Given the description of an element on the screen output the (x, y) to click on. 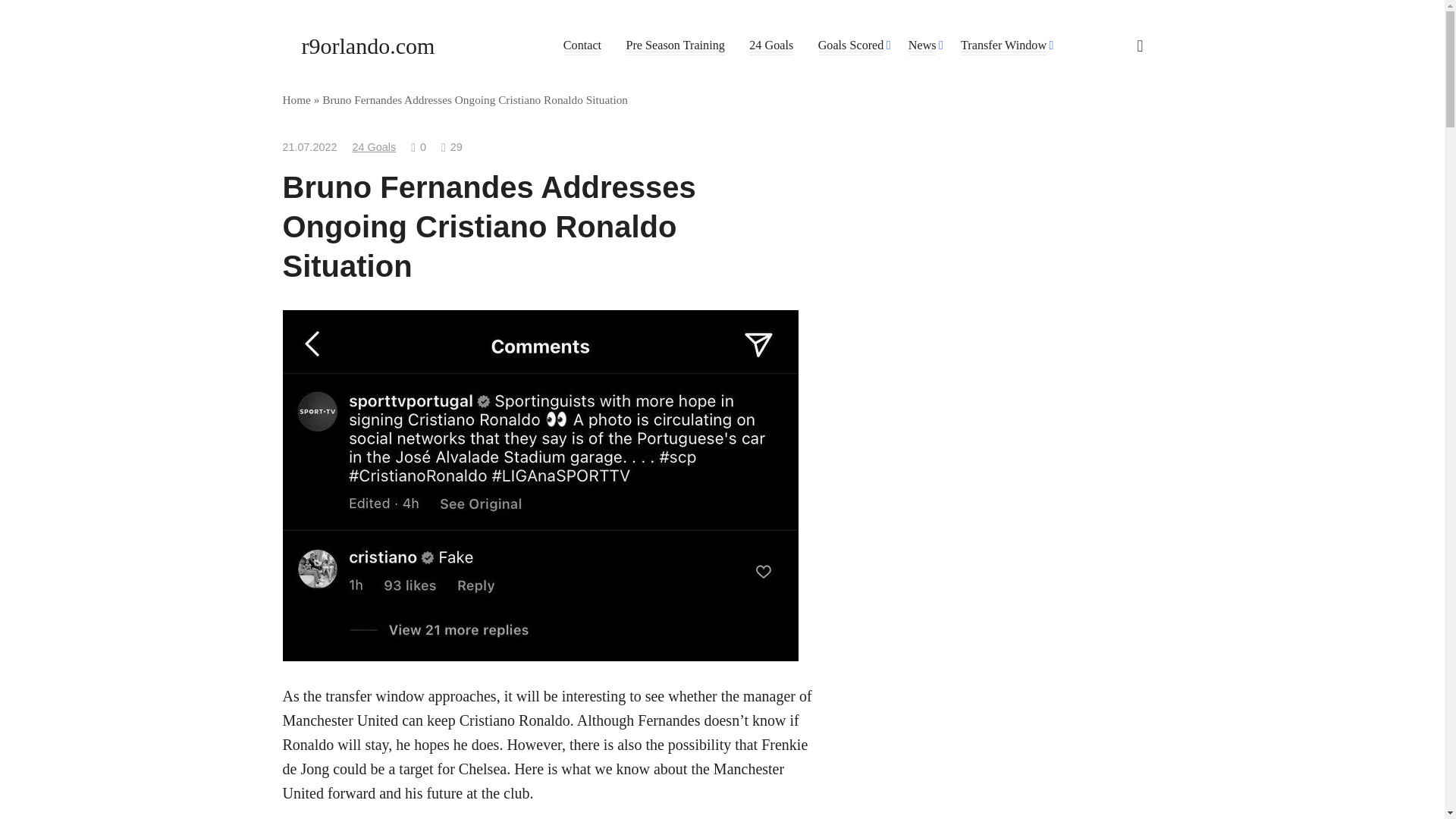
Pre Season Training (674, 45)
24 Goals (771, 45)
24 Goals (374, 146)
Home (296, 99)
News (922, 45)
Contact (582, 45)
r9orlando.com (368, 45)
Goals Scored (850, 45)
Transfer Window (1003, 45)
